Given the description of an element on the screen output the (x, y) to click on. 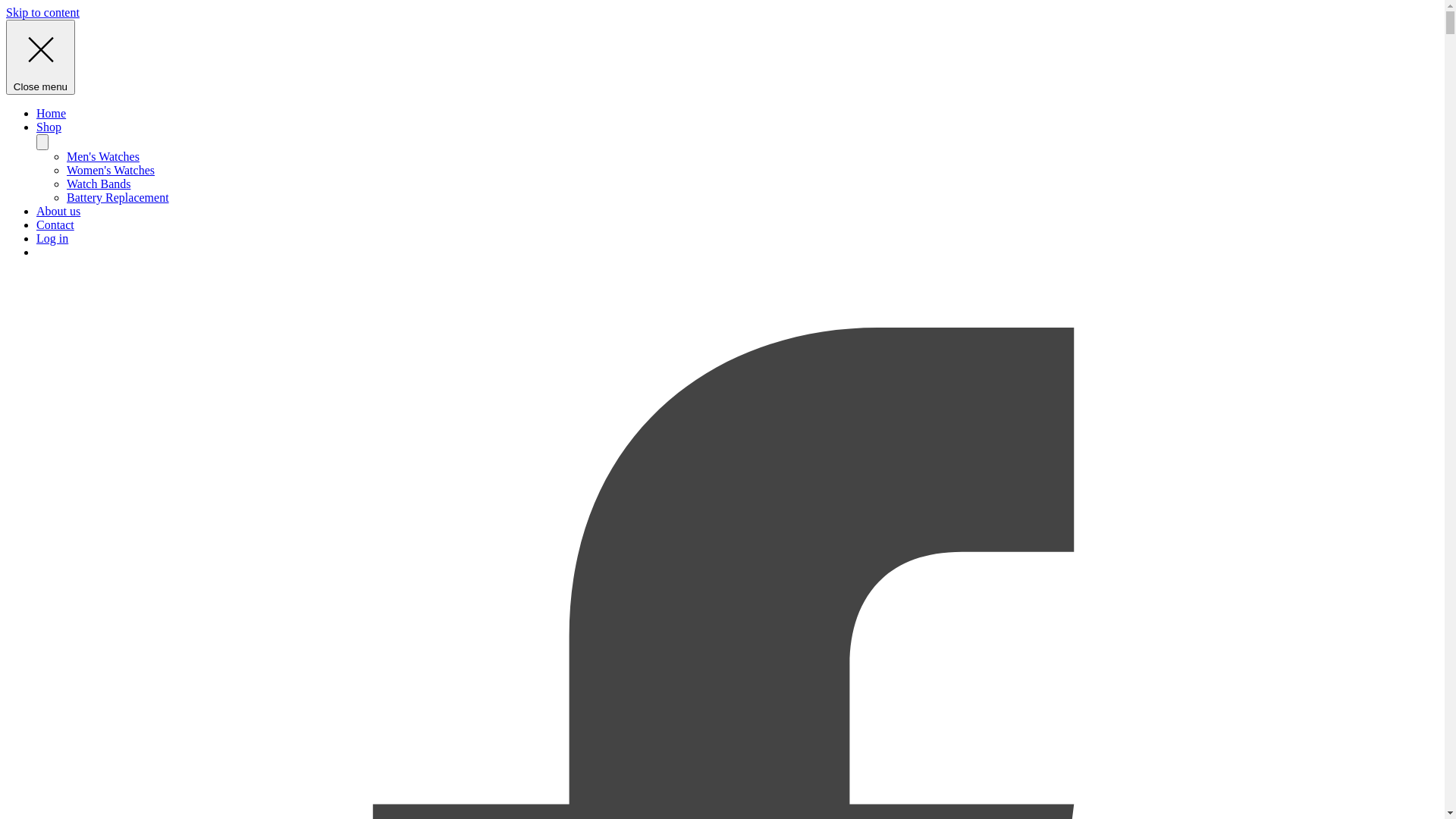
Skip to content Element type: text (42, 12)
Women's Watches Element type: text (110, 169)
Home Element type: text (50, 112)
Shop Element type: text (48, 126)
Watch Bands Element type: text (98, 183)
Contact Element type: text (55, 224)
Battery Replacement Element type: text (117, 197)
About us Element type: text (58, 210)
Men's Watches Element type: text (102, 156)
Log in Element type: text (52, 238)
